Given the description of an element on the screen output the (x, y) to click on. 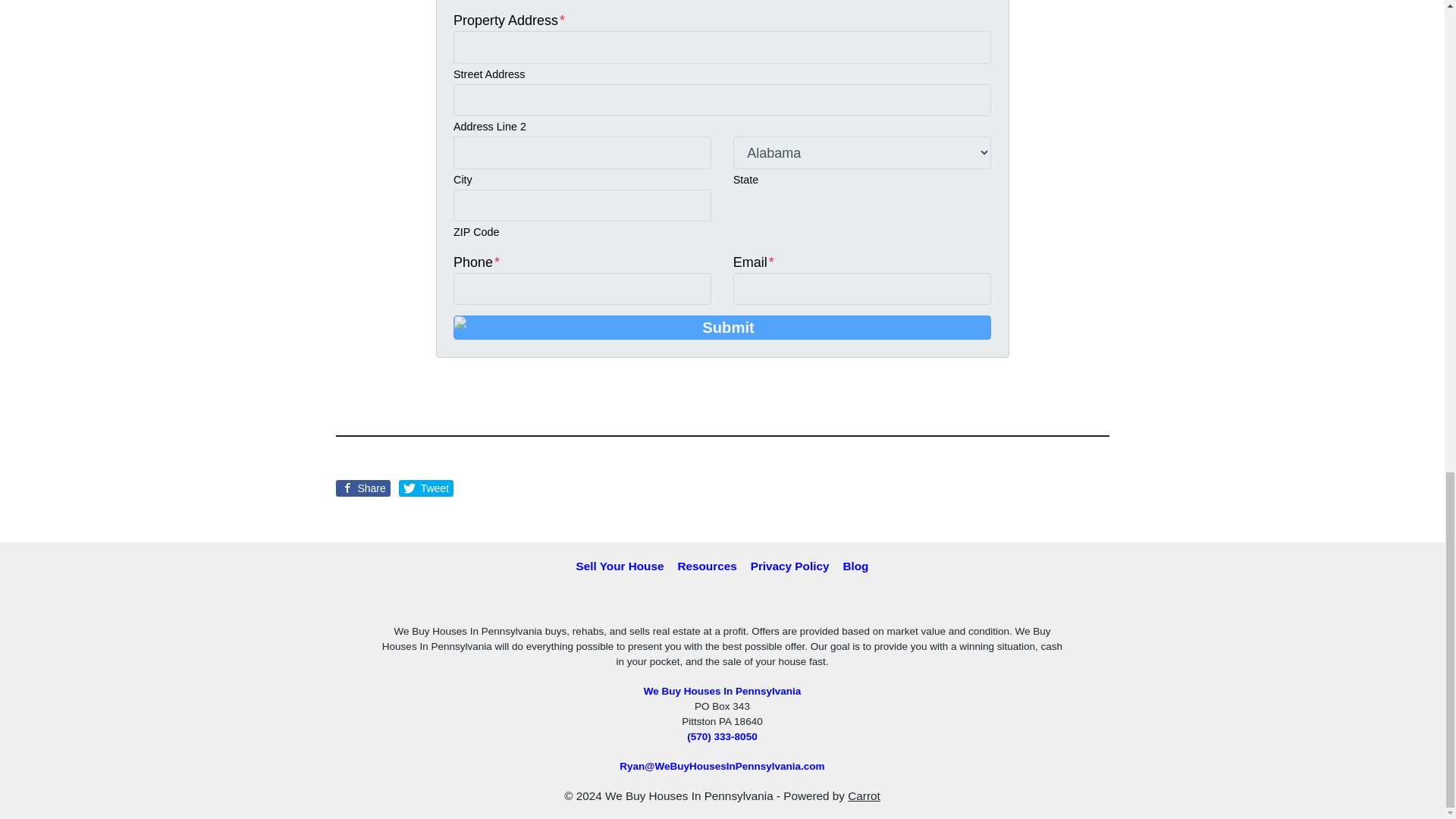
Privacy Policy (789, 567)
Share on Facebook (362, 487)
Instagram (779, 601)
Blog (855, 567)
Resources (705, 567)
Tweet (425, 487)
Share on Twitter (425, 487)
Facebook (693, 601)
We Buy Houses In Pennsylvania (722, 690)
YouTube (721, 601)
